Given the description of an element on the screen output the (x, y) to click on. 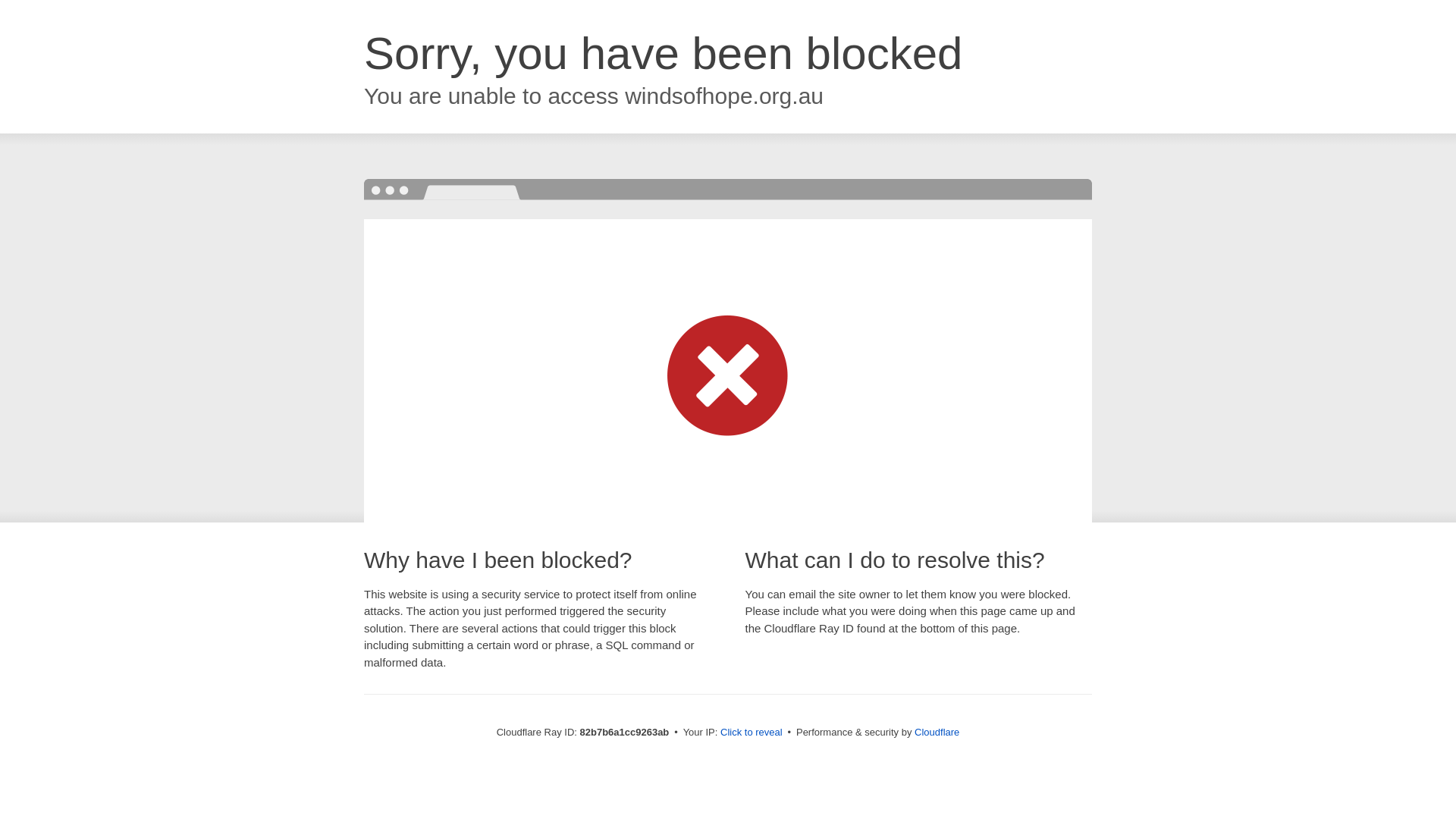
Click to reveal Element type: text (751, 732)
Cloudflare Element type: text (936, 731)
